Given the description of an element on the screen output the (x, y) to click on. 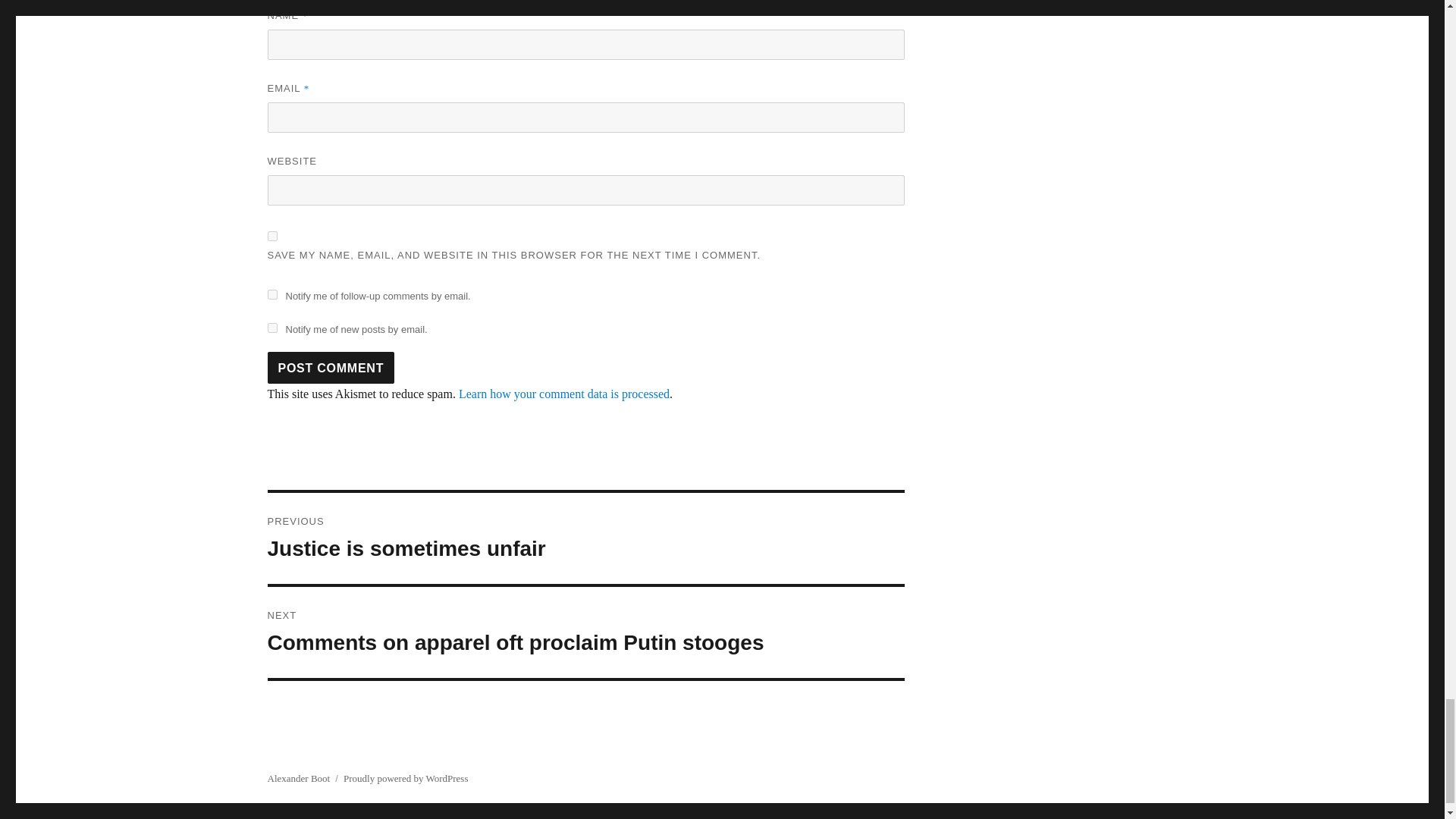
Post Comment (330, 368)
subscribe (271, 294)
subscribe (271, 327)
yes (271, 235)
